Given the description of an element on the screen output the (x, y) to click on. 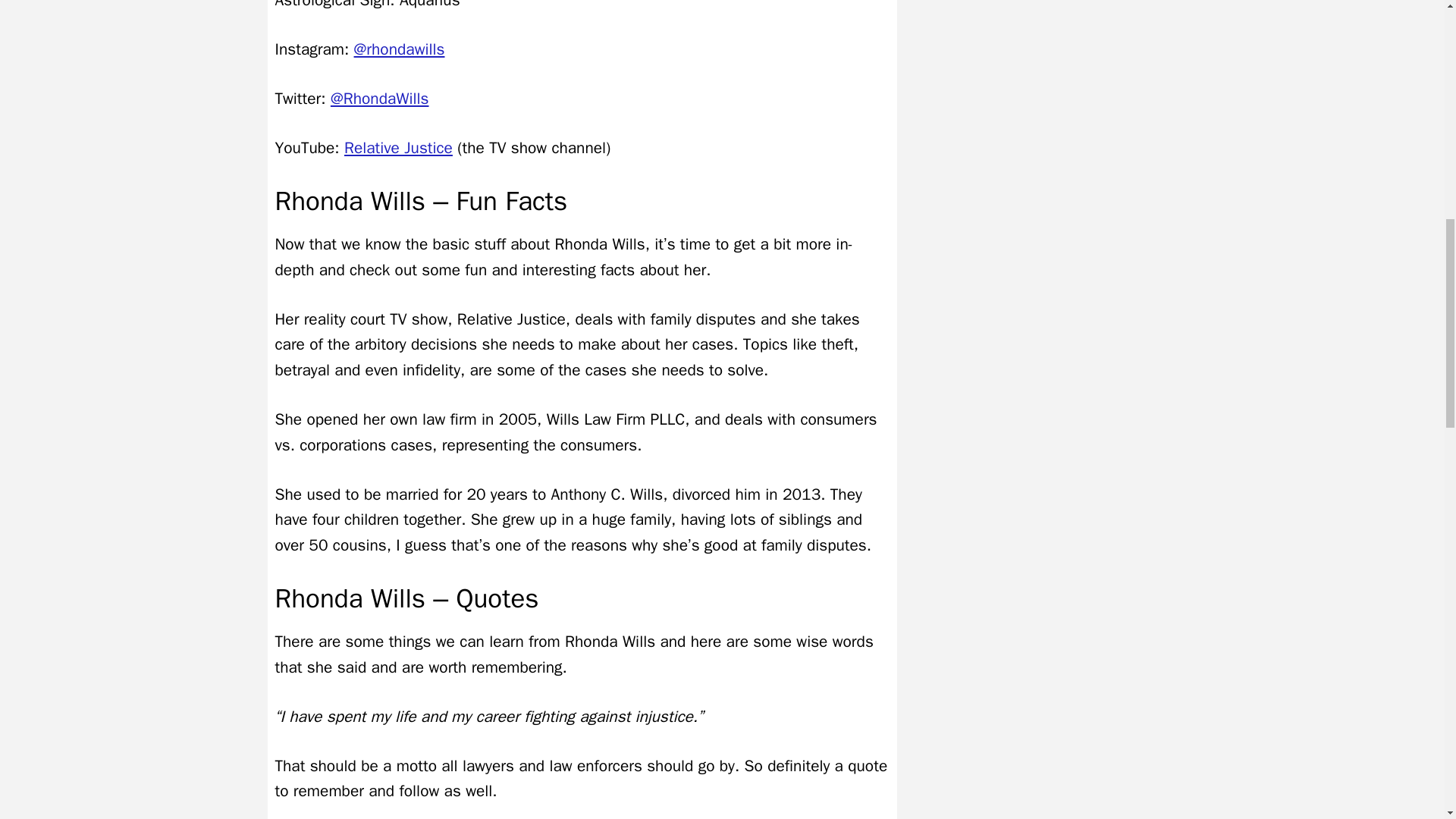
Relative Justice (397, 148)
